Given the description of an element on the screen output the (x, y) to click on. 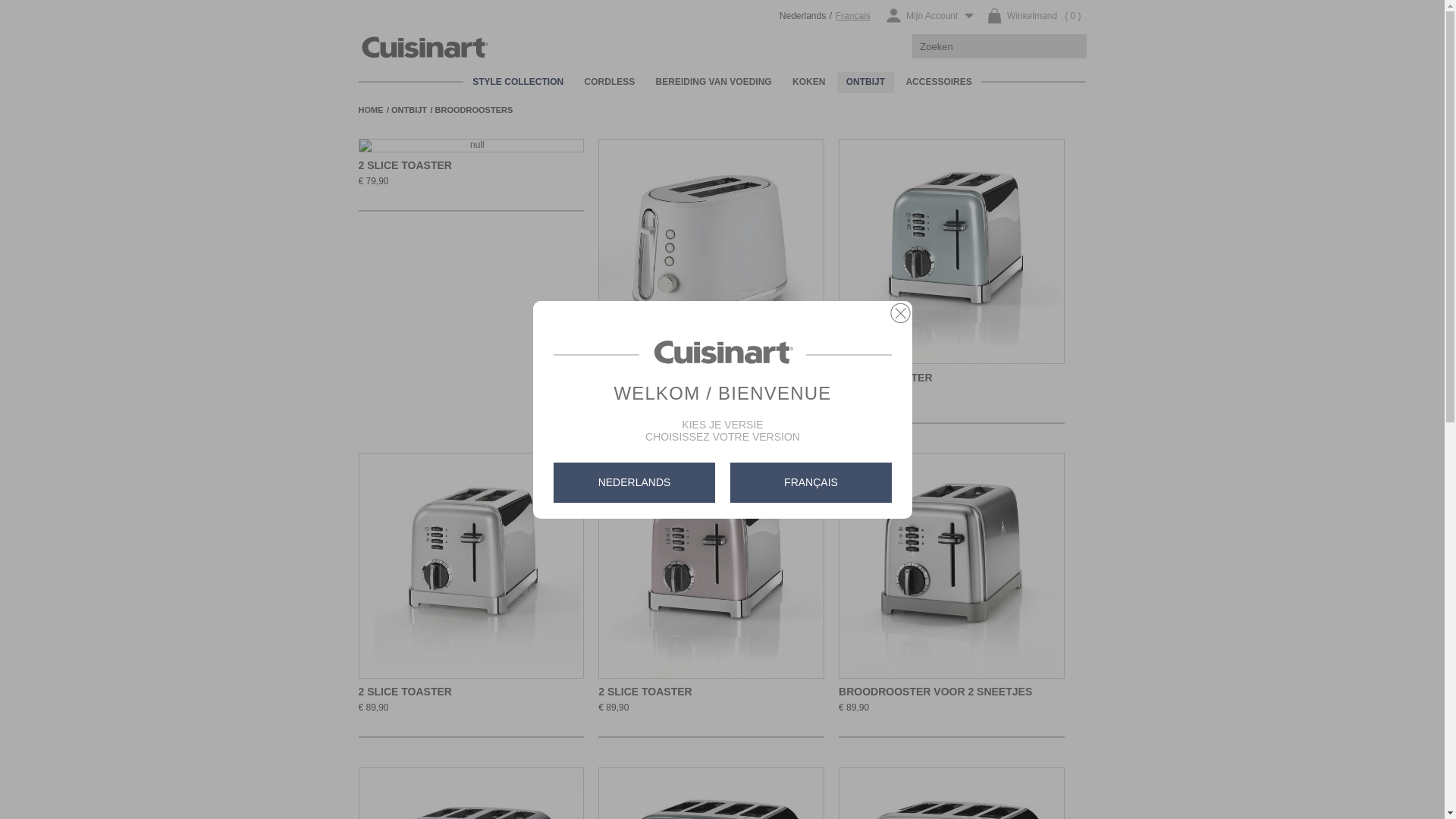
2 SLICE TOASTER Element type: text (884, 377)
CLOSE Element type: text (900, 313)
BROODROOSTER VOOR 2 SNEETJES Element type: text (935, 691)
Nederlands Element type: text (802, 15)
HOME Element type: text (372, 109)
Ga naar het product: 2 Slice Toaster Element type: hover (470, 565)
BROODROOSTERS Element type: text (475, 109)
Ga naar het product: 2 Slice Toaster Element type: hover (711, 565)
Ga naar het product: Broodrooster voor 2 sneetjes Element type: hover (951, 565)
Cuisinart Belgie Element type: text (439, 31)
NEDERLANDS Element type: text (634, 482)
ONTBIJT Element type: text (412, 109)
Mijn Account Element type: text (929, 16)
2 SLICE TOASTER Element type: text (404, 165)
CORDLESS Element type: text (609, 82)
Ga naar het product: 2 Slice Toaster Element type: hover (711, 251)
2 SLICE TOASTER Element type: text (644, 377)
ZOEKEN Element type: text (1069, 45)
KOKEN Element type: text (808, 82)
BEREIDING VAN VOEDING Element type: text (713, 82)
Ga naar het product: 2 Slice Toaster Element type: hover (951, 251)
ACCESSOIRES Element type: text (938, 82)
2 SLICE TOASTER Element type: text (644, 691)
STYLE COLLECTION Element type: text (517, 82)
2 SLICE TOASTER Element type: text (404, 691)
( 0 )
Winkelmand Element type: text (1033, 16)
ONTBIJT Element type: text (865, 82)
Ga naar het product: 2 Slice Toaster Element type: hover (470, 145)
